Given the description of an element on the screen output the (x, y) to click on. 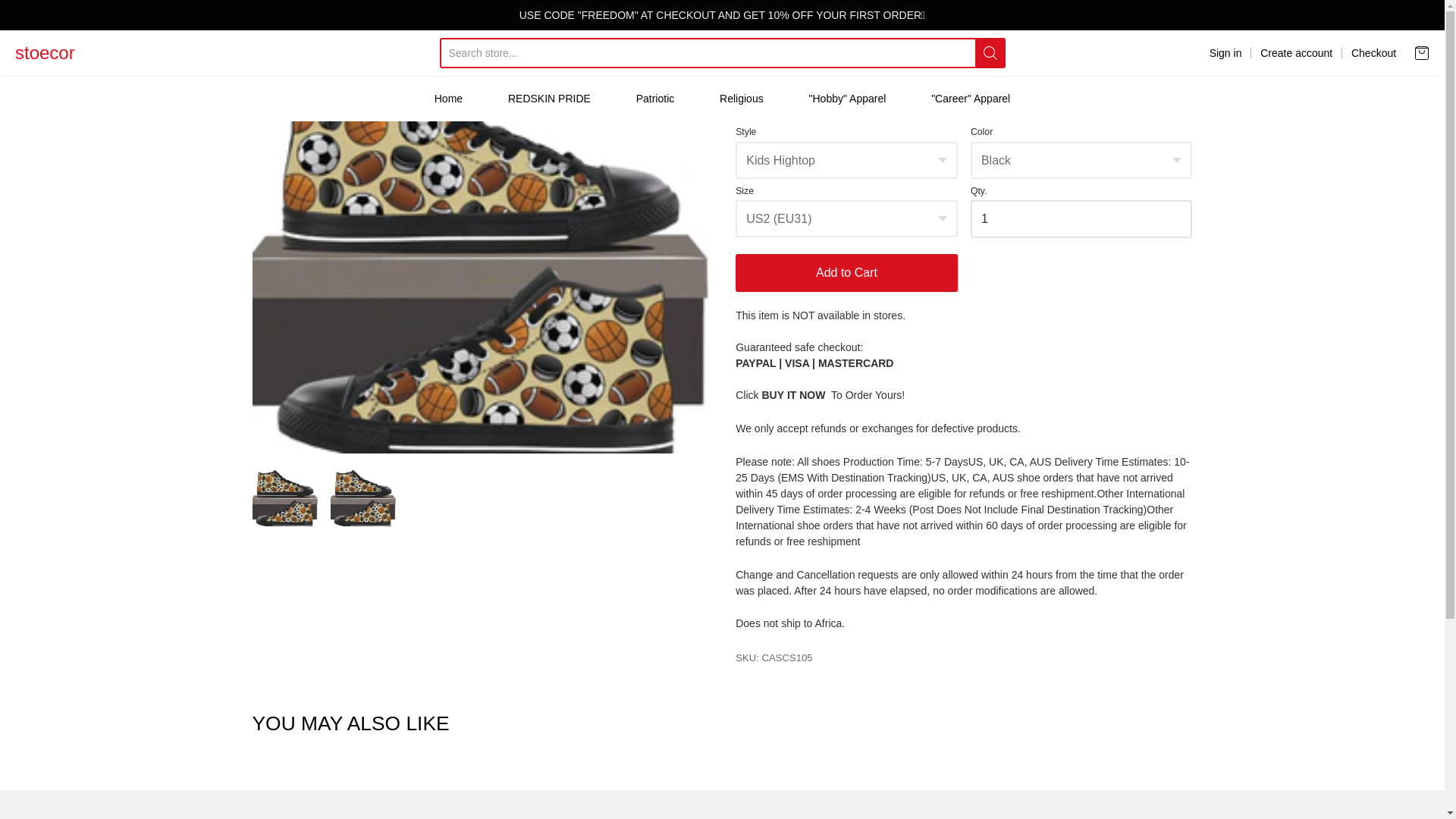
Checkout (1373, 52)
stoecor (44, 52)
Sports Ball Patterns - Kids Hightop (363, 498)
Sports Ball Patterns - Kids Hightop (284, 498)
Patriotic (655, 97)
Create account (1296, 52)
Sign in (1225, 52)
Home (448, 97)
Religious (740, 97)
"Career" Apparel (970, 97)
"Hobby" Apparel (847, 97)
1 (1081, 218)
Home (263, 44)
stoecor (44, 52)
